Given the description of an element on the screen output the (x, y) to click on. 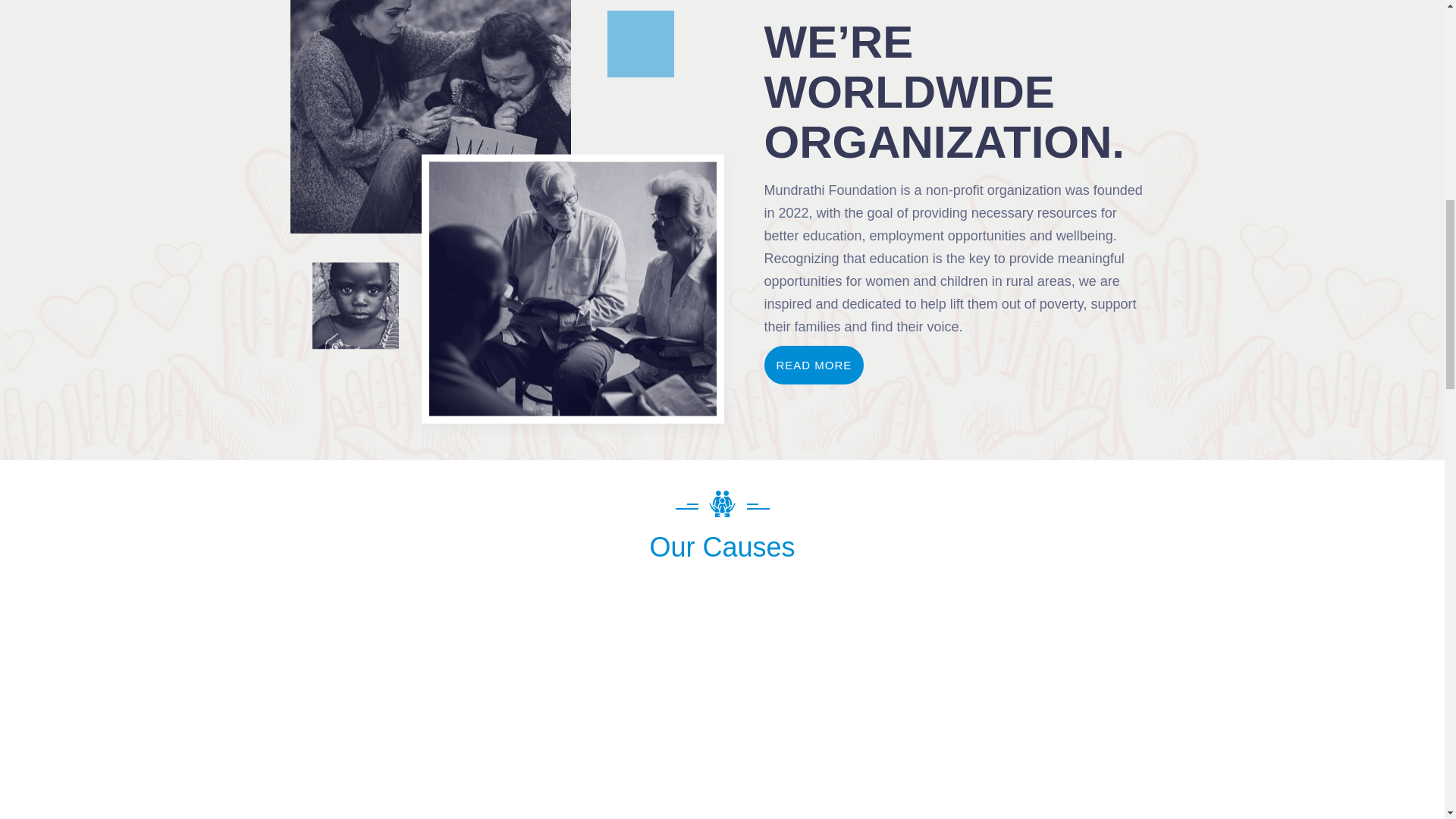
READ MORE (814, 364)
